Given the description of an element on the screen output the (x, y) to click on. 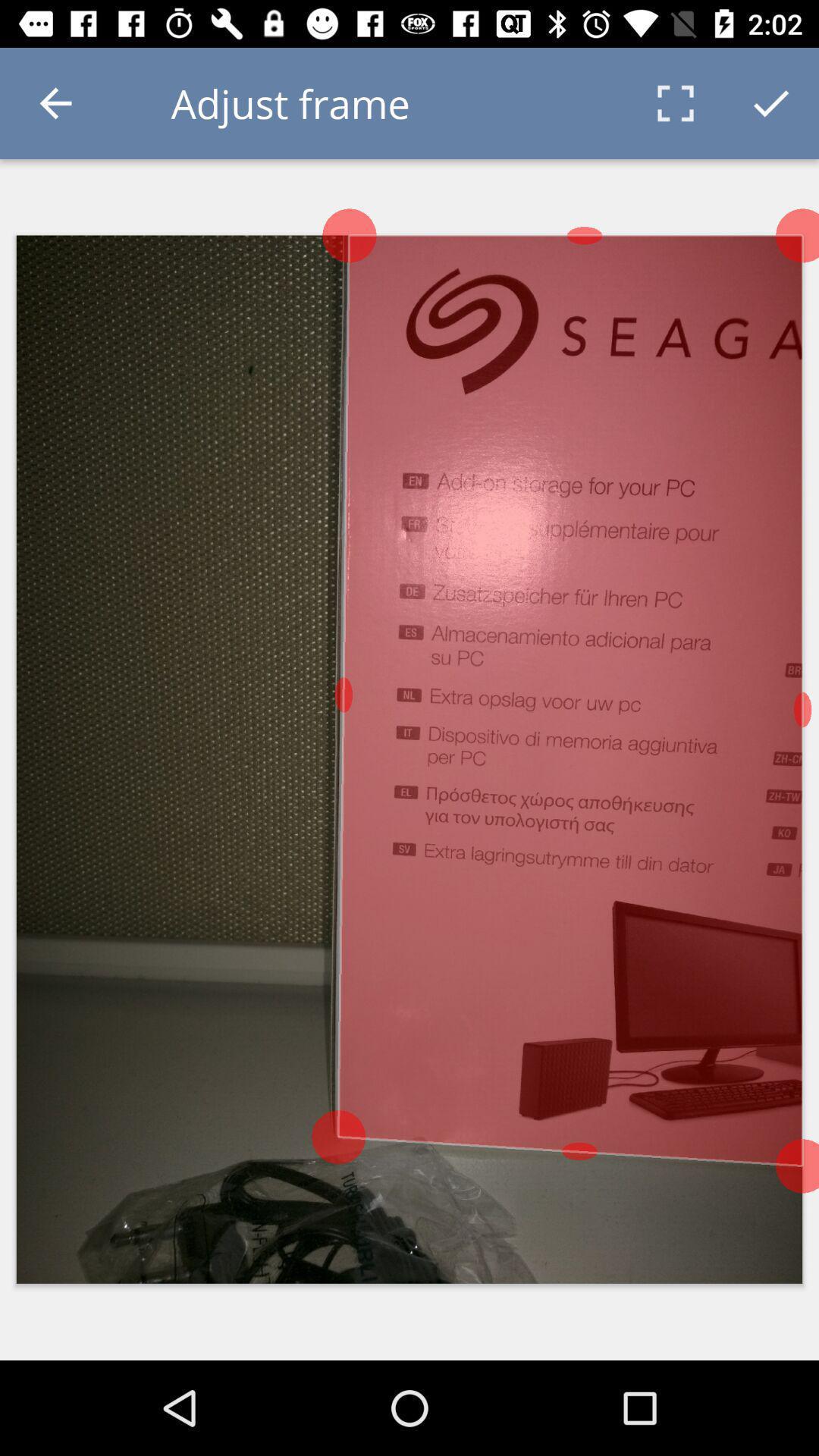
turn on item next to the adjust frame (55, 103)
